Given the description of an element on the screen output the (x, y) to click on. 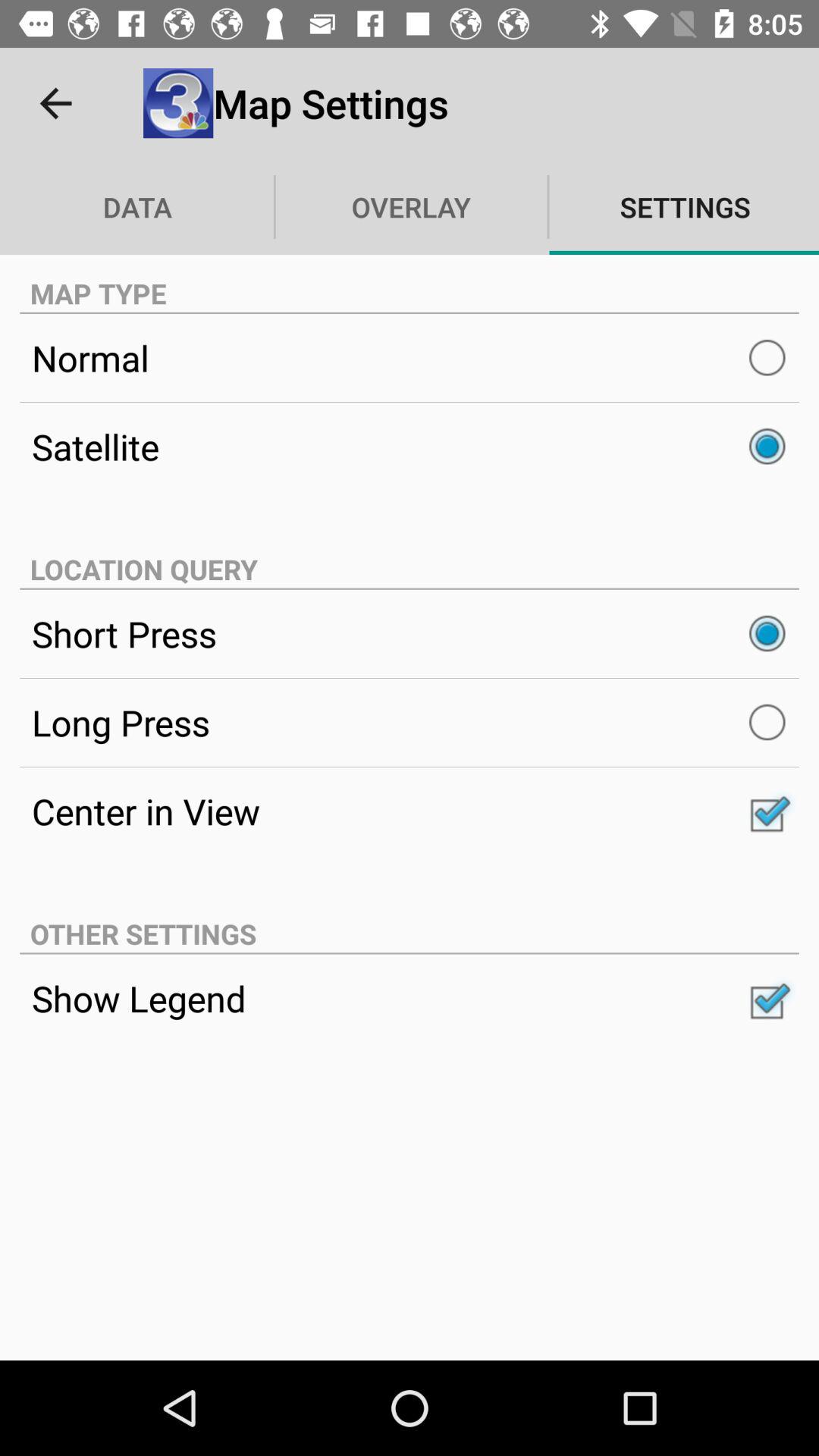
launch item above the data icon (55, 103)
